Given the description of an element on the screen output the (x, y) to click on. 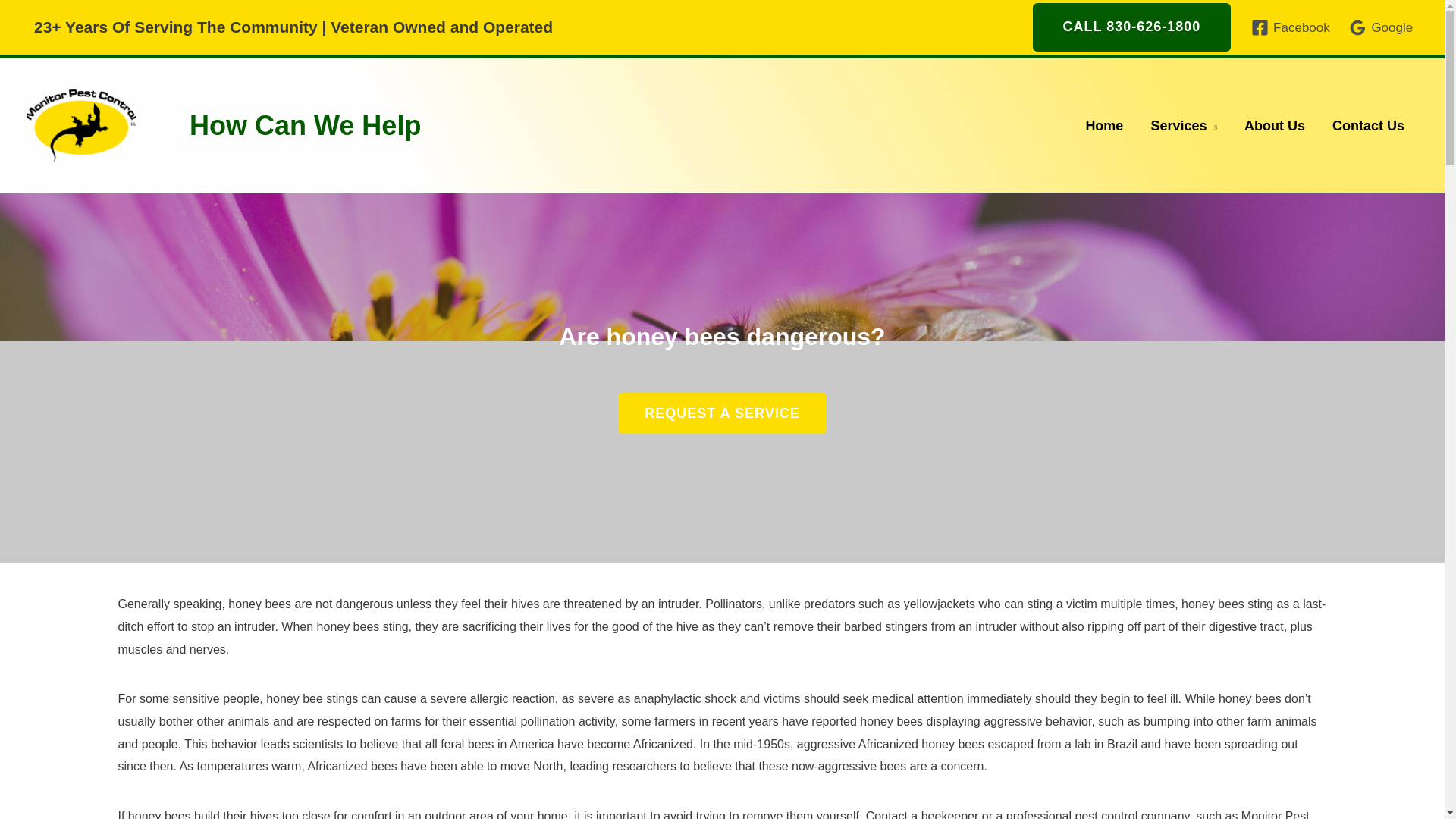
Facebook (1290, 27)
Contact Us (1368, 125)
About Us (1274, 125)
CALL 830-626-1800 (1131, 26)
Services (1183, 125)
Google (1380, 27)
